Given the description of an element on the screen output the (x, y) to click on. 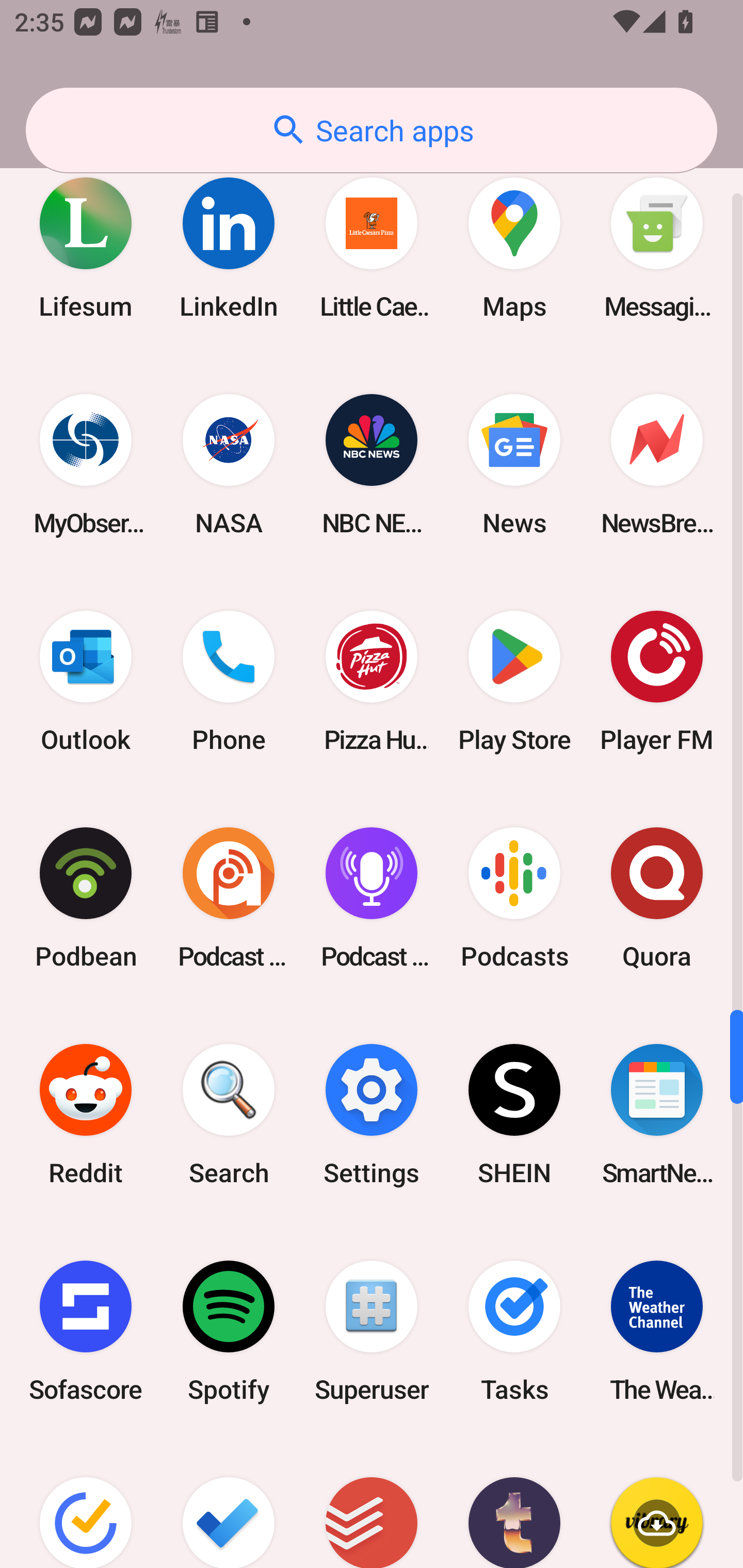
  Search apps (371, 130)
Lifesum (85, 247)
LinkedIn (228, 247)
Little Caesars Pizza (371, 247)
Maps (514, 247)
Messaging (656, 247)
MyObservatory (85, 463)
NASA (228, 463)
NBC NEWS (371, 463)
News (514, 463)
NewsBreak (656, 463)
Outlook (85, 681)
Phone (228, 681)
Pizza Hut HK & Macau (371, 681)
Play Store (514, 681)
Player FM (656, 681)
Podbean (85, 898)
Podcast Addict (228, 898)
Podcast Player (371, 898)
Podcasts (514, 898)
Quora (656, 898)
Reddit (85, 1114)
Search (228, 1114)
Settings (371, 1114)
SHEIN (514, 1114)
SmartNews (656, 1114)
Sofascore (85, 1331)
Spotify (228, 1331)
Superuser (371, 1331)
Tasks (514, 1331)
The Weather Channel (656, 1331)
TickTick (85, 1503)
To Do (228, 1503)
Todoist (371, 1503)
Tumblr (514, 1503)
Vibrary (656, 1503)
